Given the description of an element on the screen output the (x, y) to click on. 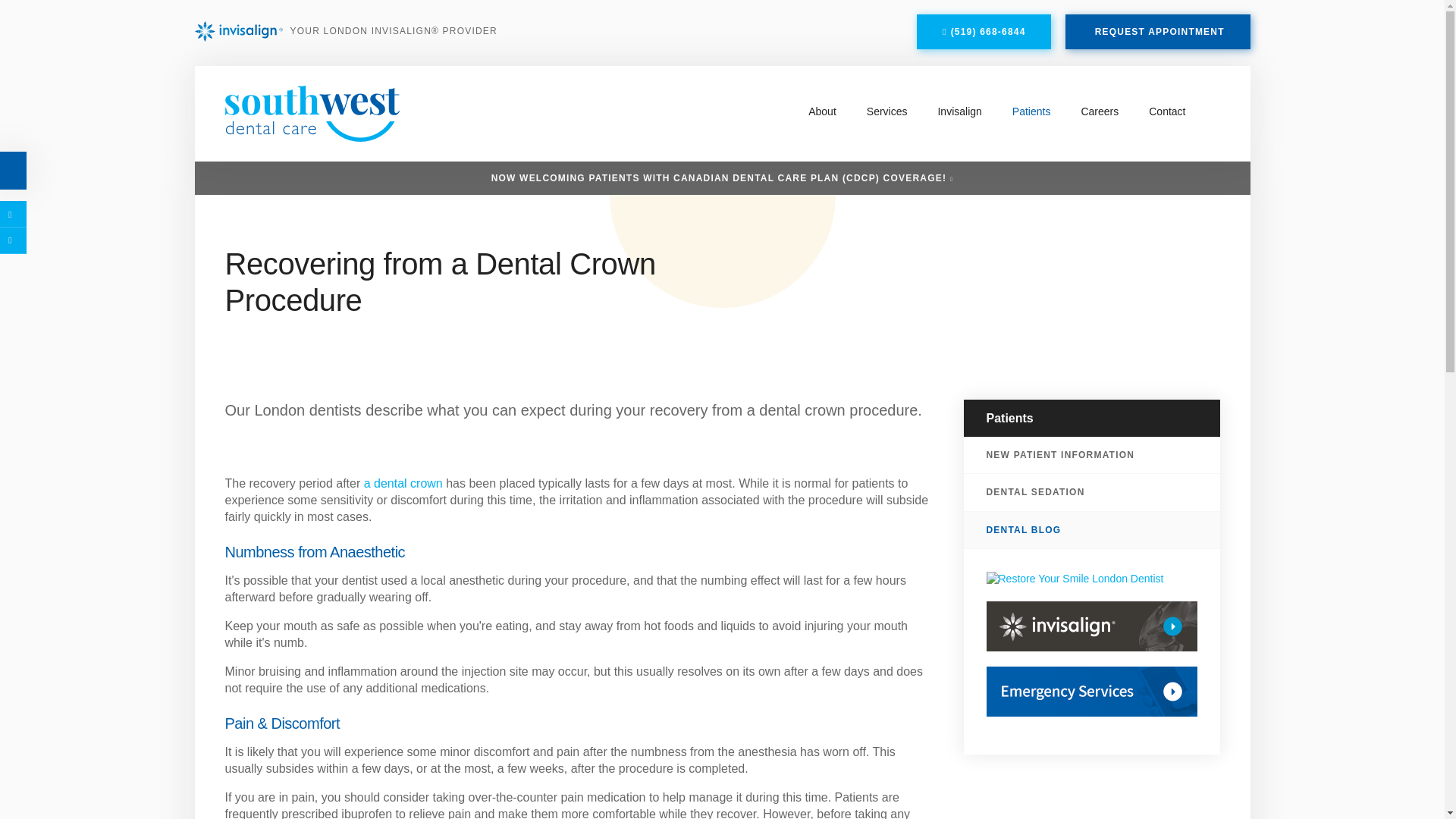
About (822, 111)
REQUEST APPOINTMENT (1157, 31)
Accessible Version (13, 170)
